Given the description of an element on the screen output the (x, y) to click on. 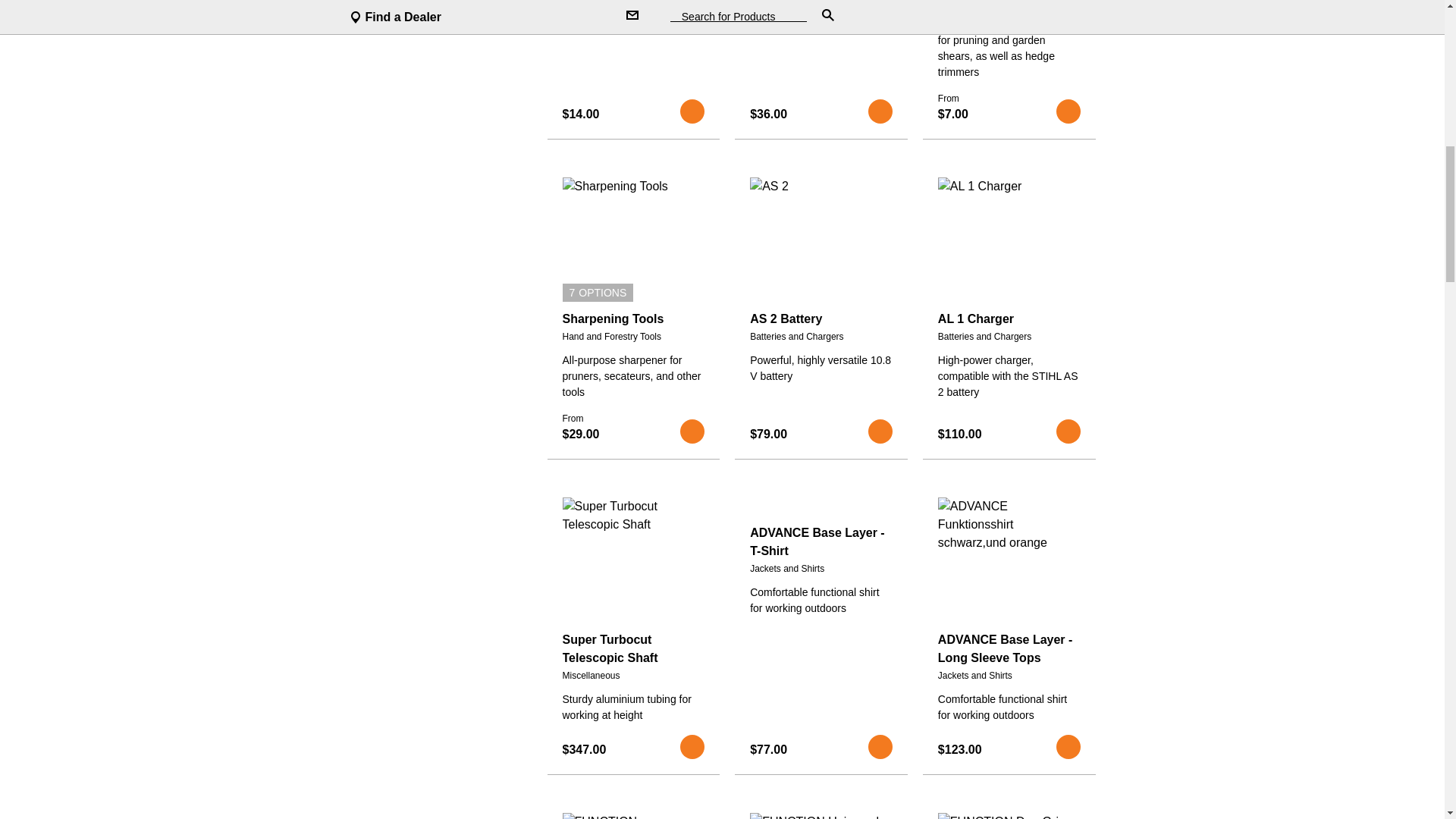
ADVANCE Base Layer - T-Shirt (820, 542)
AS 2 Battery (820, 319)
Sharpening Tools (633, 319)
Super Turbocut Telescopic Shaft (633, 648)
AL 1 Charger (1008, 319)
ADVANCE Base Layer - Long Sleeve Tops (1008, 648)
